Given the description of an element on the screen output the (x, y) to click on. 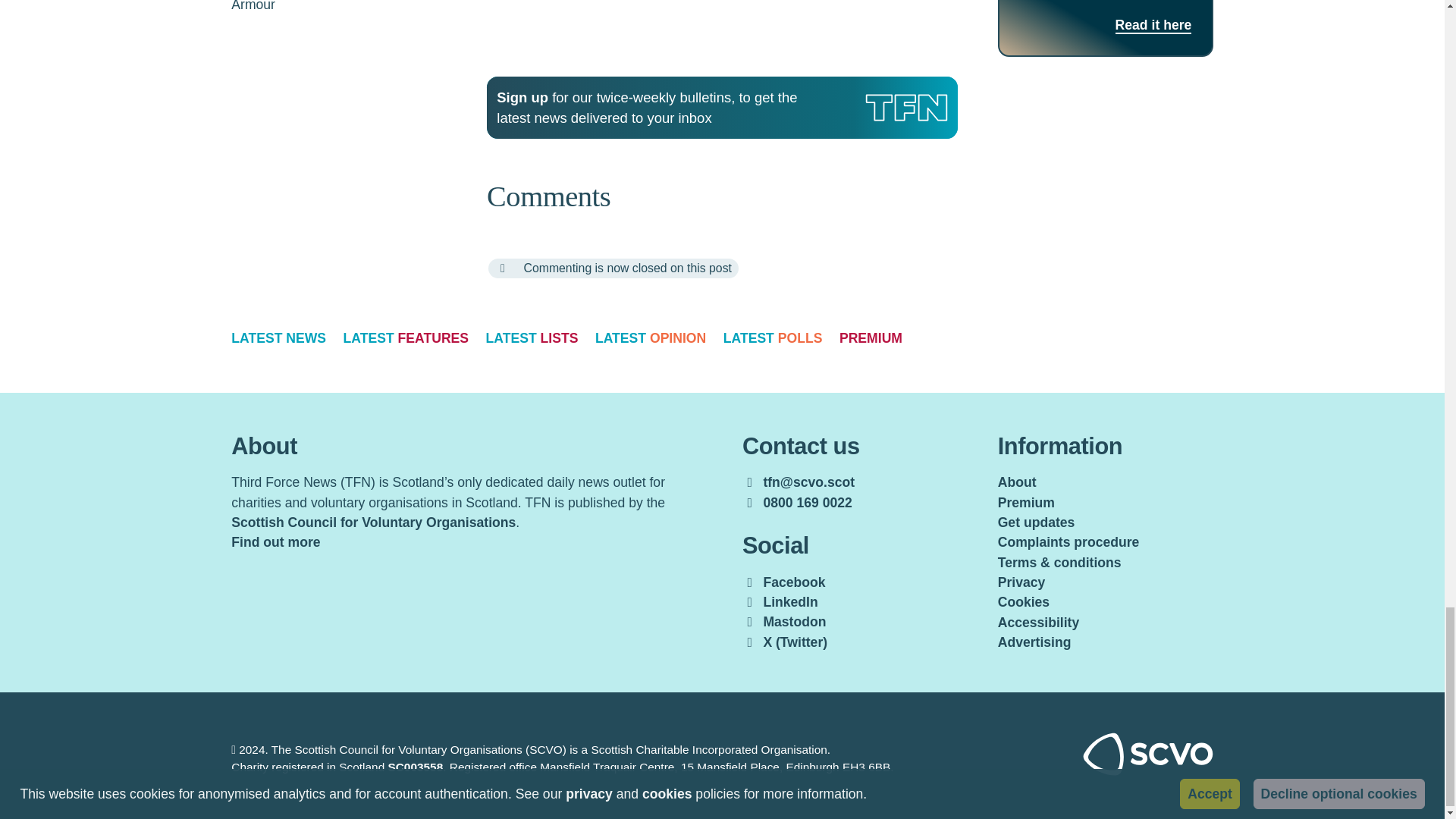
Copyright (233, 749)
Scottish Council for Voluntary Organisations (1147, 770)
